Given the description of an element on the screen output the (x, y) to click on. 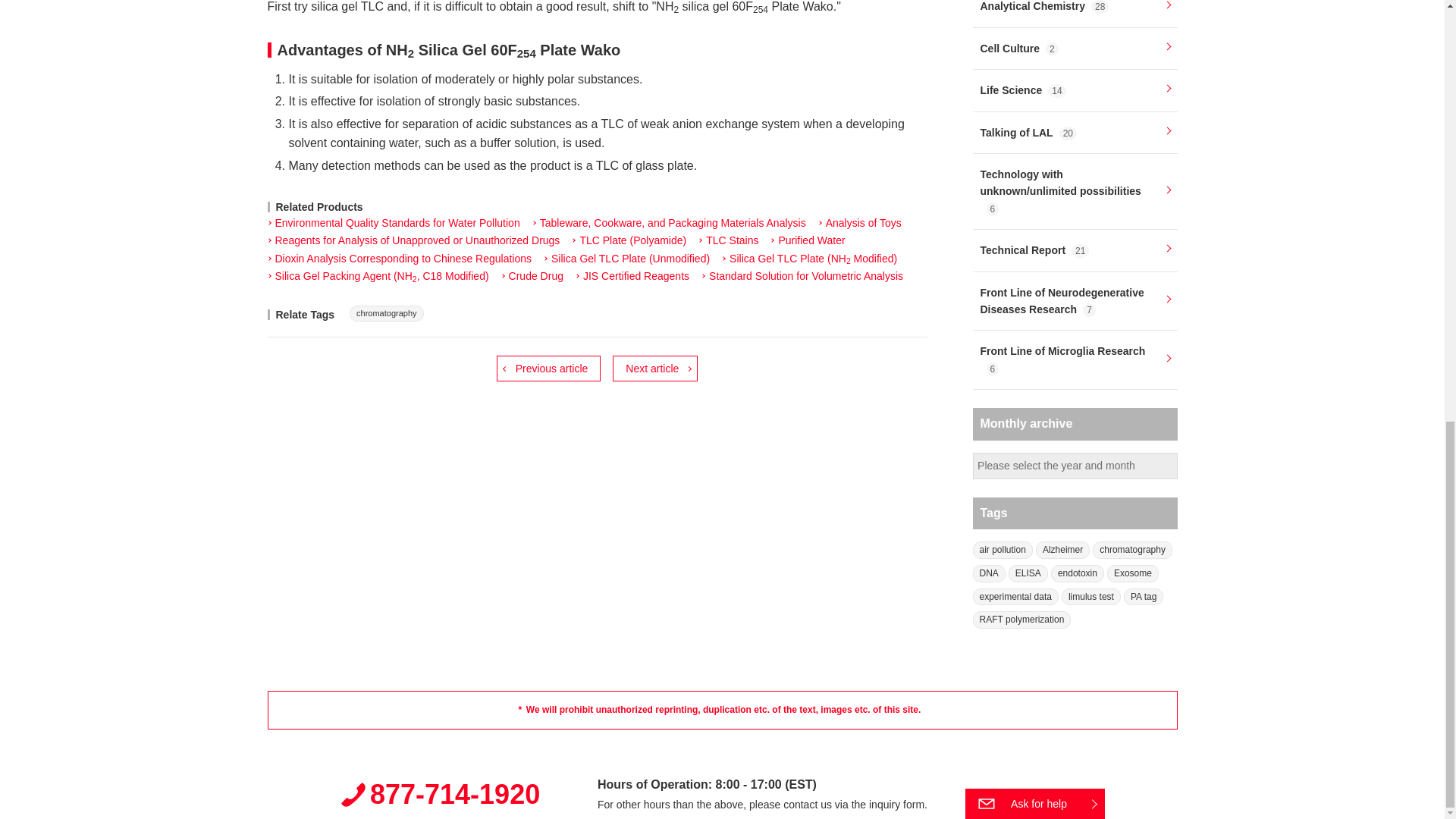
Purified Water (807, 240)
Previous article (548, 368)
air pollution (1002, 549)
Environmental Quality Standards for Water Pollution (392, 223)
experimental data (1015, 597)
PA tag (1143, 597)
DNA (988, 573)
RAFT polymerization (1021, 619)
ELISA (1028, 573)
Reagents for Analysis of Unapproved or Unauthorized Drugs (412, 240)
